Given the description of an element on the screen output the (x, y) to click on. 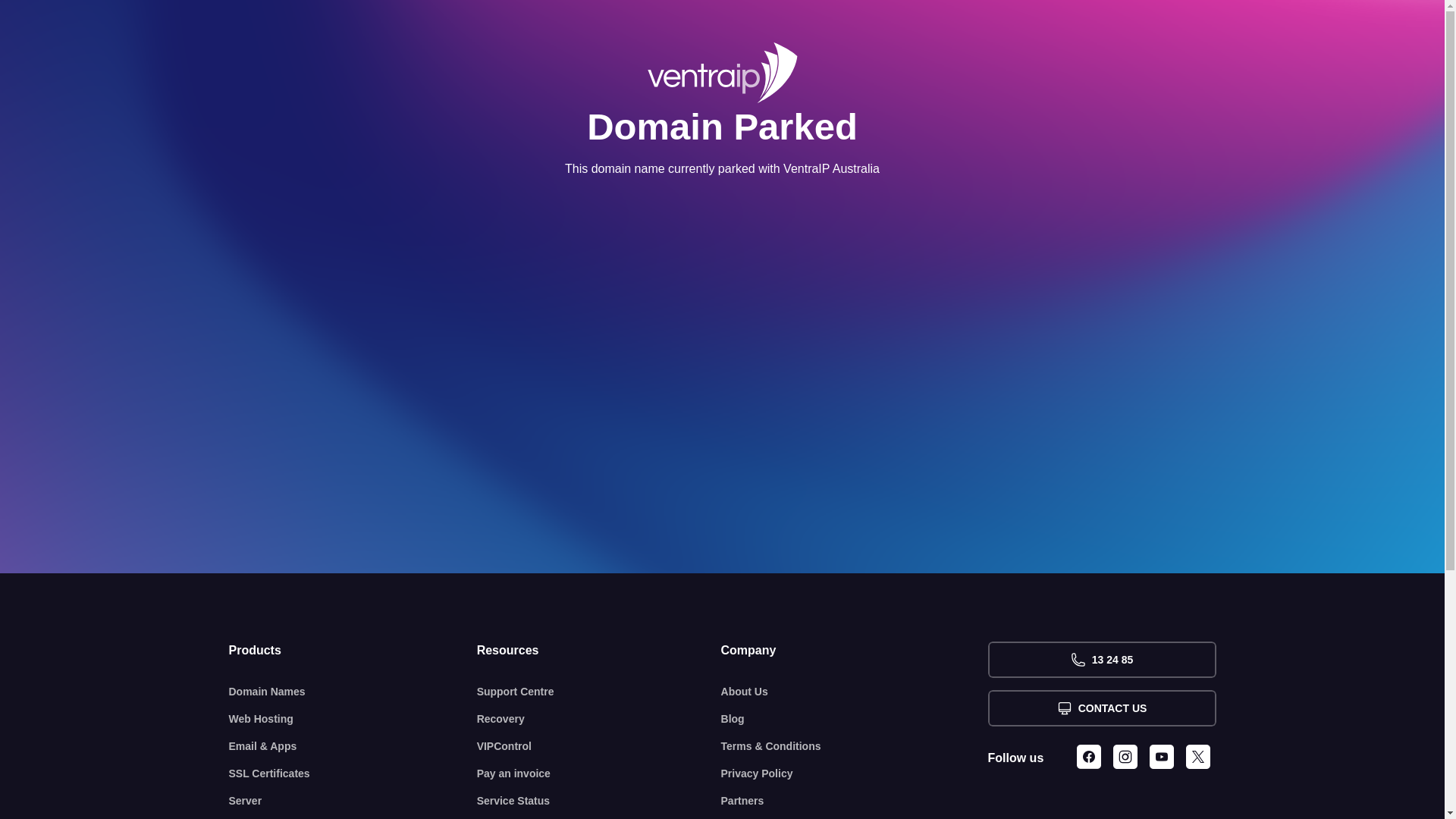
Service Status Element type: text (598, 800)
Support Centre Element type: text (598, 691)
About Us Element type: text (854, 691)
Recovery Element type: text (598, 718)
Pay an invoice Element type: text (598, 773)
Server Element type: text (352, 800)
13 24 85 Element type: text (1101, 659)
Blog Element type: text (854, 718)
Email & Apps Element type: text (352, 745)
Partners Element type: text (854, 800)
Web Hosting Element type: text (352, 718)
VIPControl Element type: text (598, 745)
Terms & Conditions Element type: text (854, 745)
SSL Certificates Element type: text (352, 773)
CONTACT US Element type: text (1101, 708)
Domain Names Element type: text (352, 691)
Privacy Policy Element type: text (854, 773)
